Given the description of an element on the screen output the (x, y) to click on. 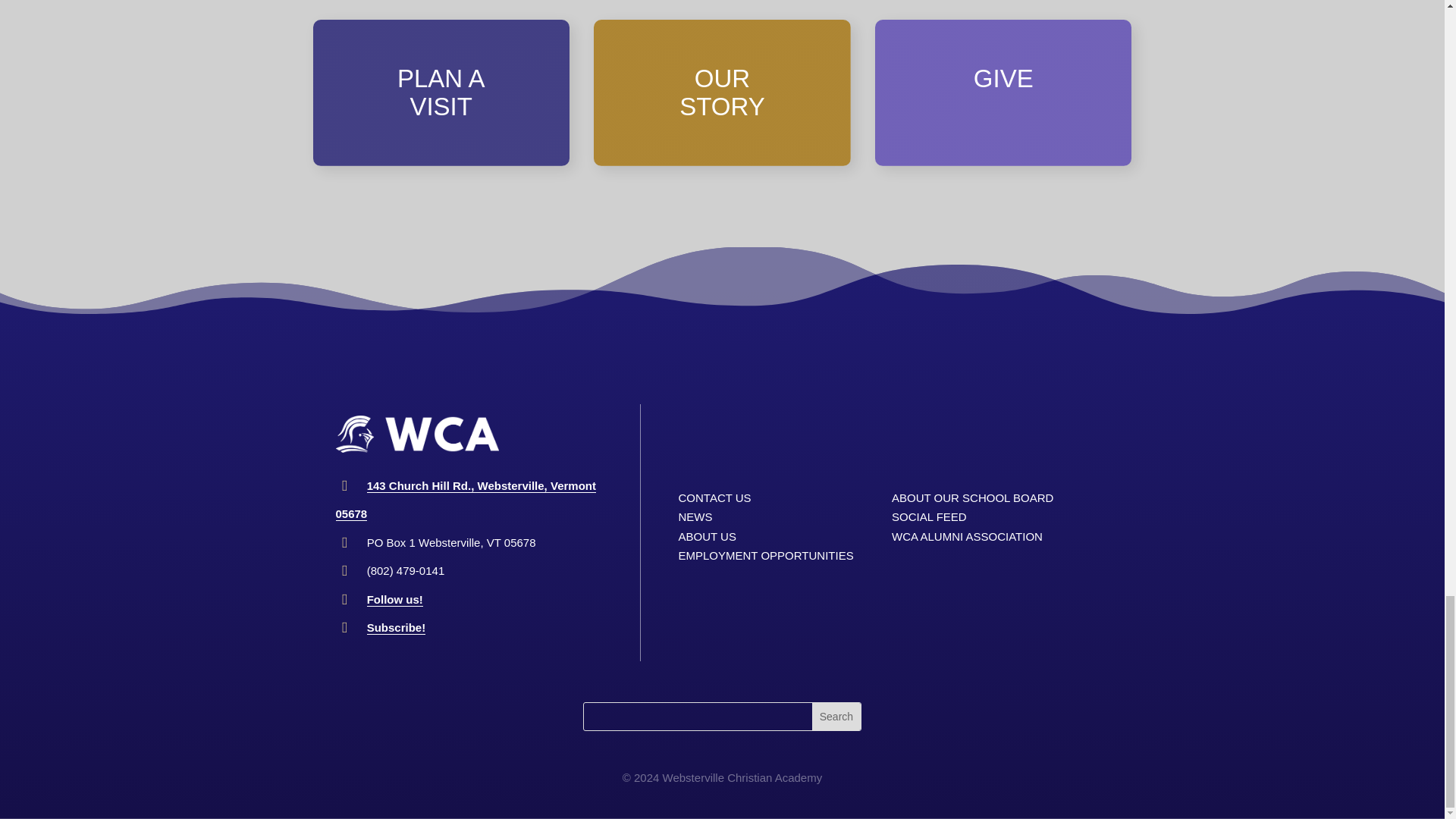
About Our School Board (971, 497)
Search (836, 716)
Employment Opportunities (765, 554)
WCA Alumni Association page (966, 535)
Search (836, 716)
